Given the description of an element on the screen output the (x, y) to click on. 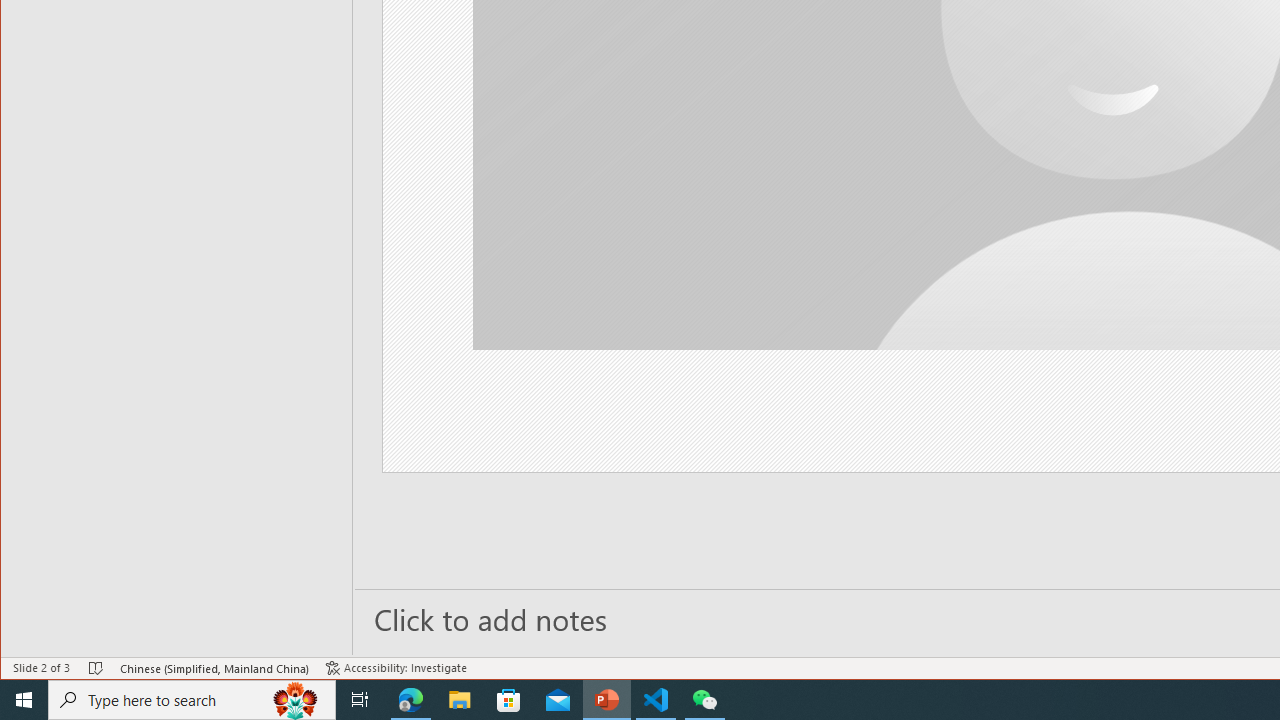
PowerPoint - 1 running window (607, 699)
Microsoft Edge - 1 running window (411, 699)
WeChat - 1 running window (704, 699)
File Explorer (460, 699)
